Given the description of an element on the screen output the (x, y) to click on. 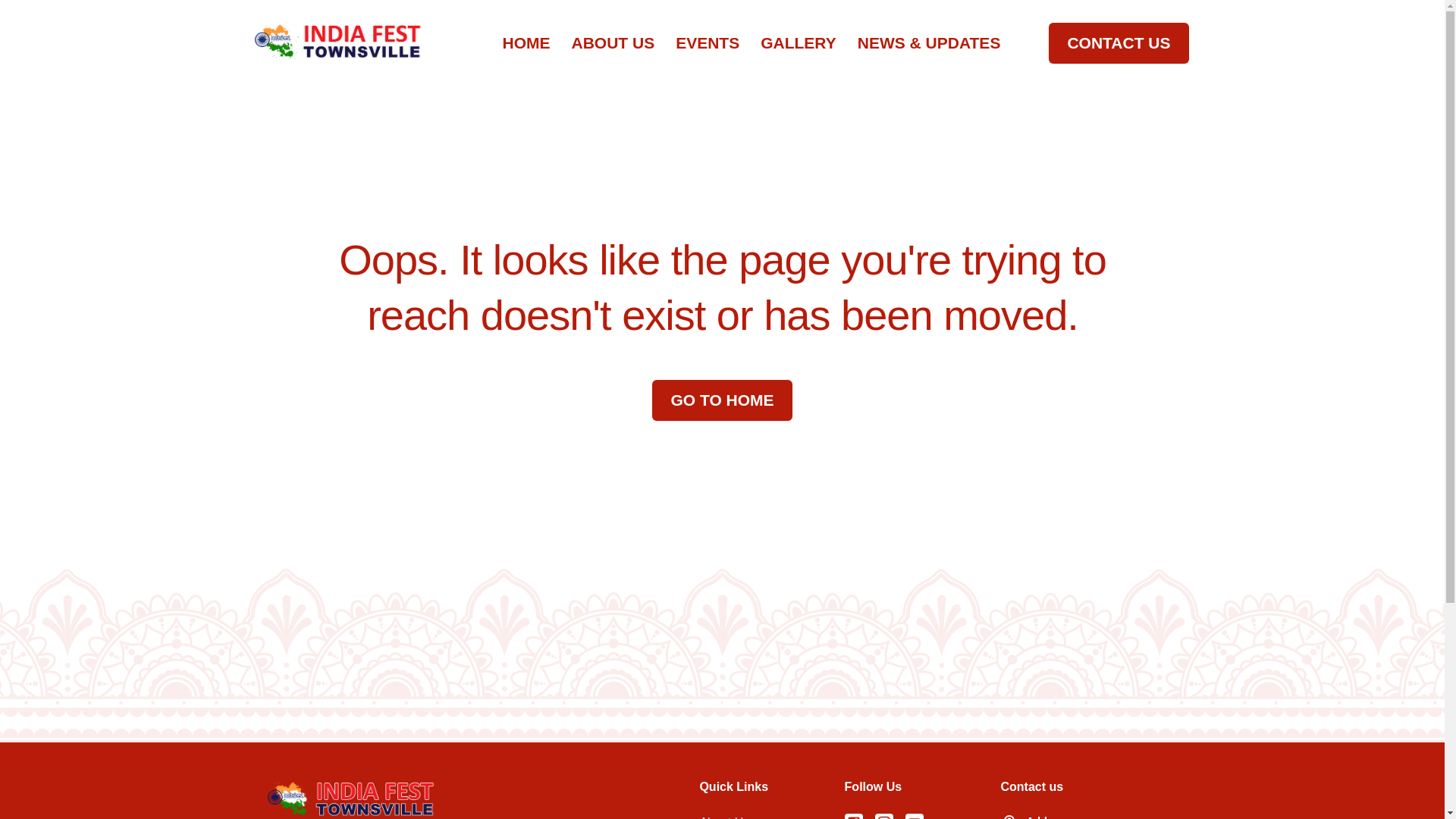
GALLERY (797, 43)
CONTACT US (1118, 42)
EVENTS (707, 43)
About Us (723, 816)
HOME (526, 43)
GO TO HOME (722, 400)
ABOUT US (613, 43)
